Given the description of an element on the screen output the (x, y) to click on. 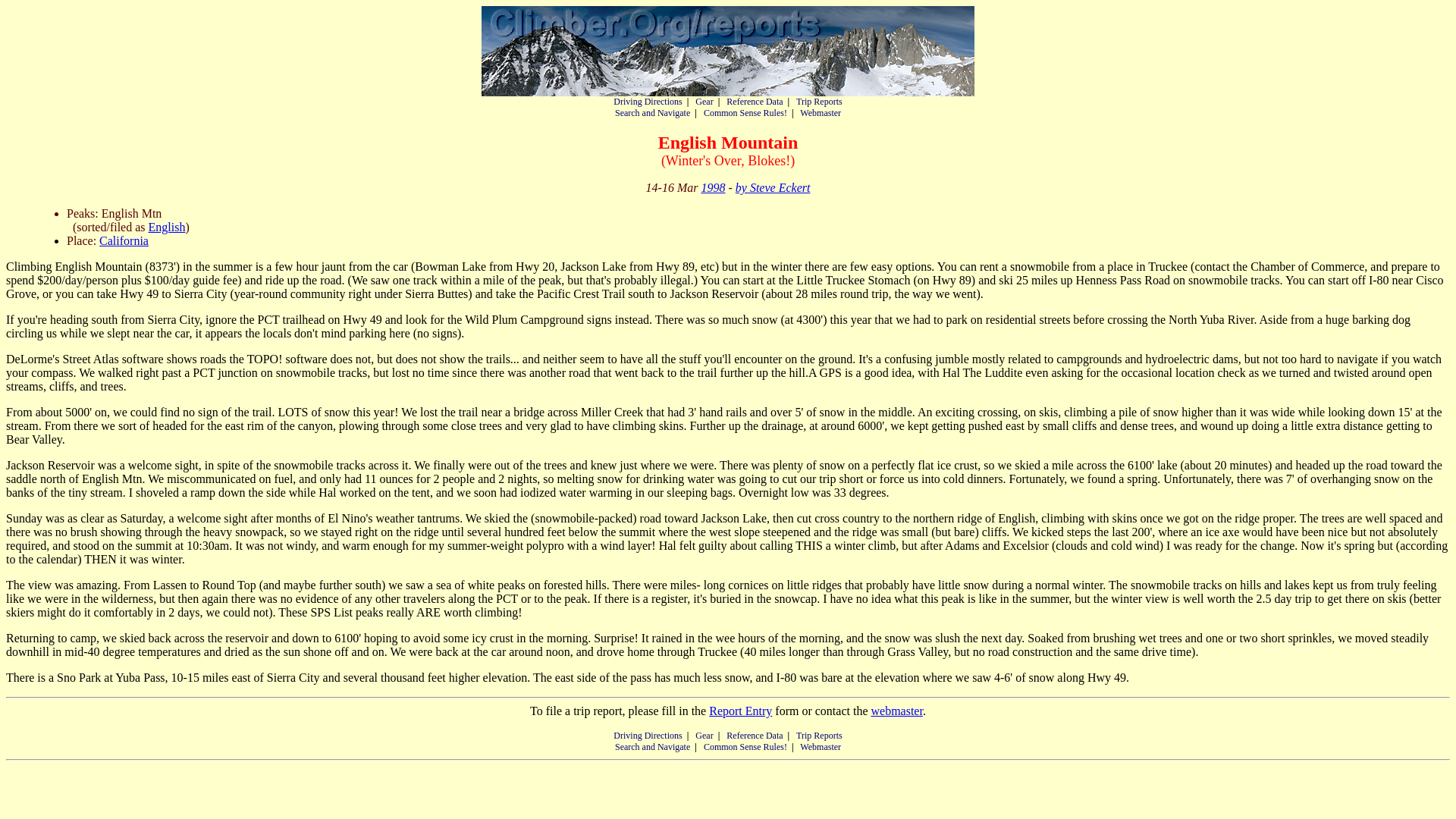
Trip Reports (819, 735)
English (167, 226)
Report Entry (740, 710)
Climber.Org Home Page (727, 50)
Gear (704, 735)
Reference Data (754, 735)
by Steve Eckert (772, 187)
Webmaster (820, 112)
Driving Directions (646, 101)
Gear (704, 101)
